Given the description of an element on the screen output the (x, y) to click on. 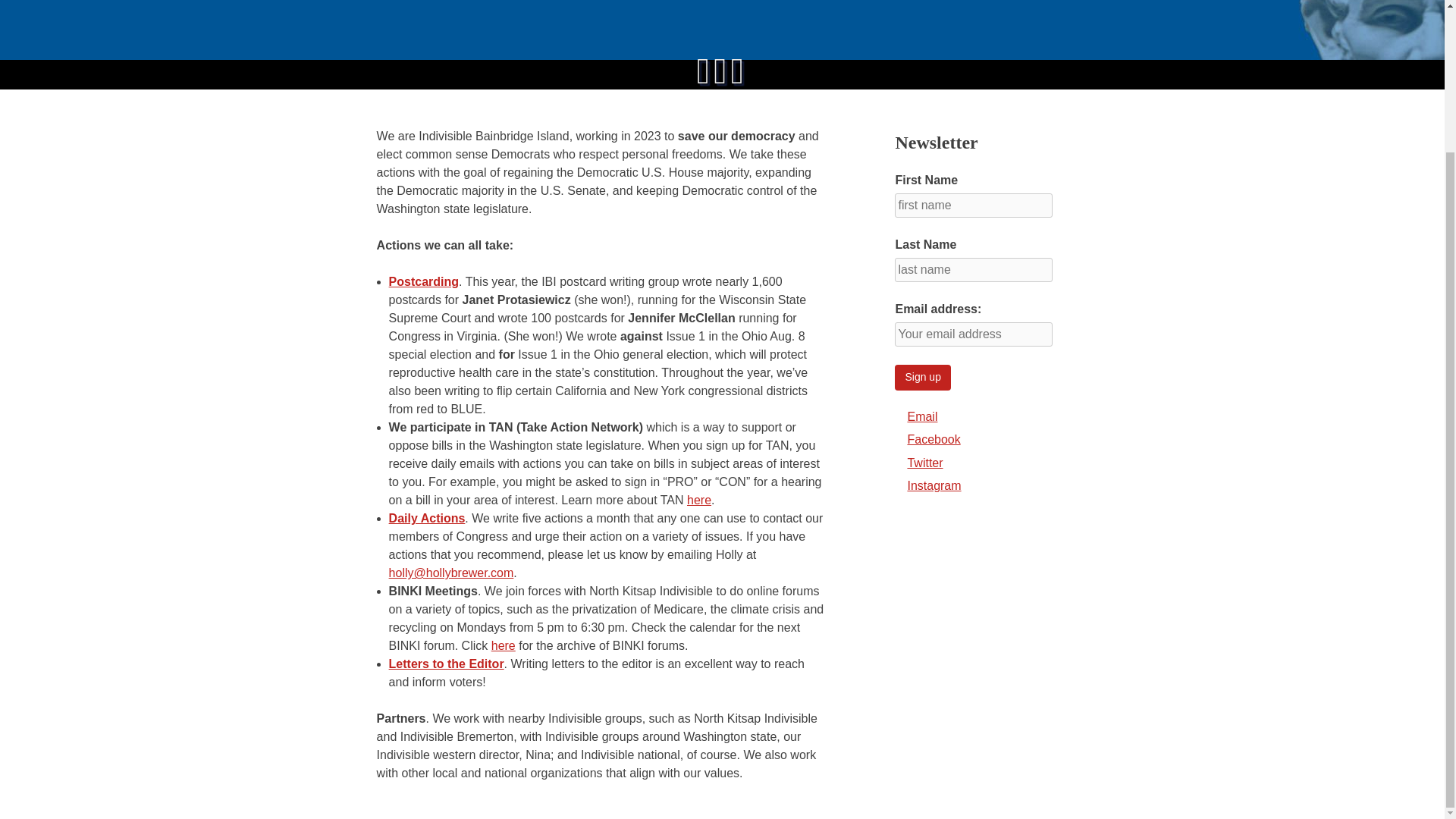
here (503, 645)
Postcarding (423, 281)
Email (922, 416)
Daily Actions (426, 517)
Sign up (922, 377)
Letters to the Editor (445, 663)
here (699, 499)
Twitter (924, 462)
Facebook (933, 439)
Sign up (922, 377)
